Given the description of an element on the screen output the (x, y) to click on. 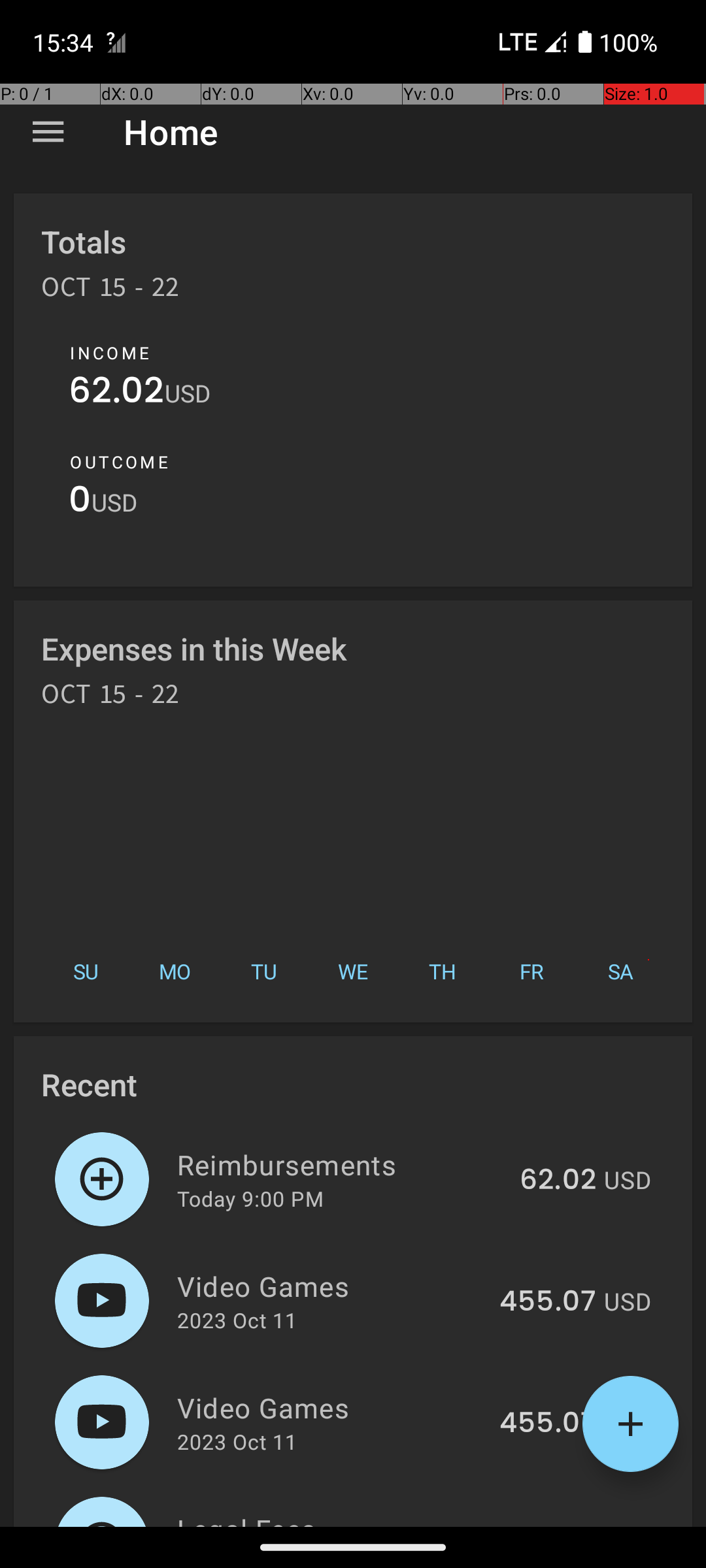
62.02 Element type: android.widget.TextView (116, 393)
Reimbursements Element type: android.widget.TextView (340, 1164)
Video Games Element type: android.widget.TextView (330, 1285)
455.07 Element type: android.widget.TextView (547, 1301)
Legal Fees Element type: android.widget.TextView (332, 1518)
270.76 Element type: android.widget.TextView (549, 1524)
